Given the description of an element on the screen output the (x, y) to click on. 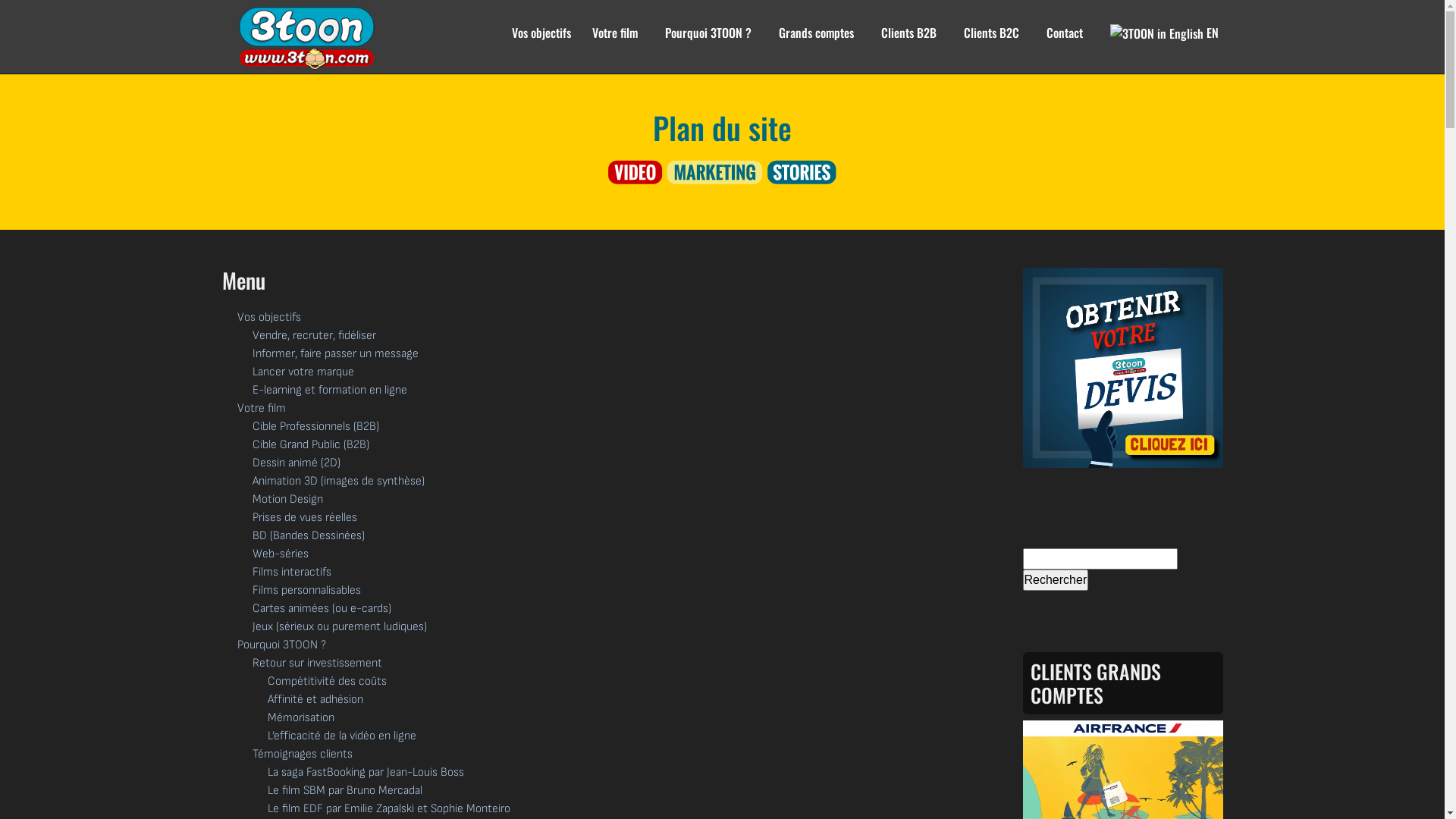
Contact Element type: text (1064, 41)
Rechercher Element type: text (1055, 579)
Pourquoi 3TOON ? Element type: text (280, 644)
Retour sur investissement Element type: text (316, 662)
Pourquoi 3TOON ? Element type: text (707, 41)
3TOON Studio Element type: hover (314, 37)
Cible Professionnels (B2B) Element type: text (314, 426)
Clients B2C Element type: text (990, 41)
E-learning et formation en ligne Element type: text (328, 389)
Votre film Element type: text (260, 408)
Motion Design Element type: text (286, 499)
Informer, faire passer un message Element type: text (334, 353)
Le film SBM par Bruno Mercadal Element type: text (343, 790)
Clients B2B Element type: text (908, 41)
Vos objectifs Element type: text (536, 41)
EN Element type: text (1164, 41)
Films personnalisables Element type: text (305, 590)
Films interactifs Element type: text (290, 571)
Lancer votre marque Element type: text (302, 371)
Le film EDF par Emilie Zapalski et Sophie Monteiro Element type: text (387, 808)
Cible Grand Public (B2B) Element type: text (309, 444)
La saga FastBooking par Jean-Louis Boss Element type: text (364, 772)
Votre film Element type: text (614, 41)
Vos objectifs Element type: text (268, 317)
Grands comptes Element type: text (815, 41)
